Given the description of an element on the screen output the (x, y) to click on. 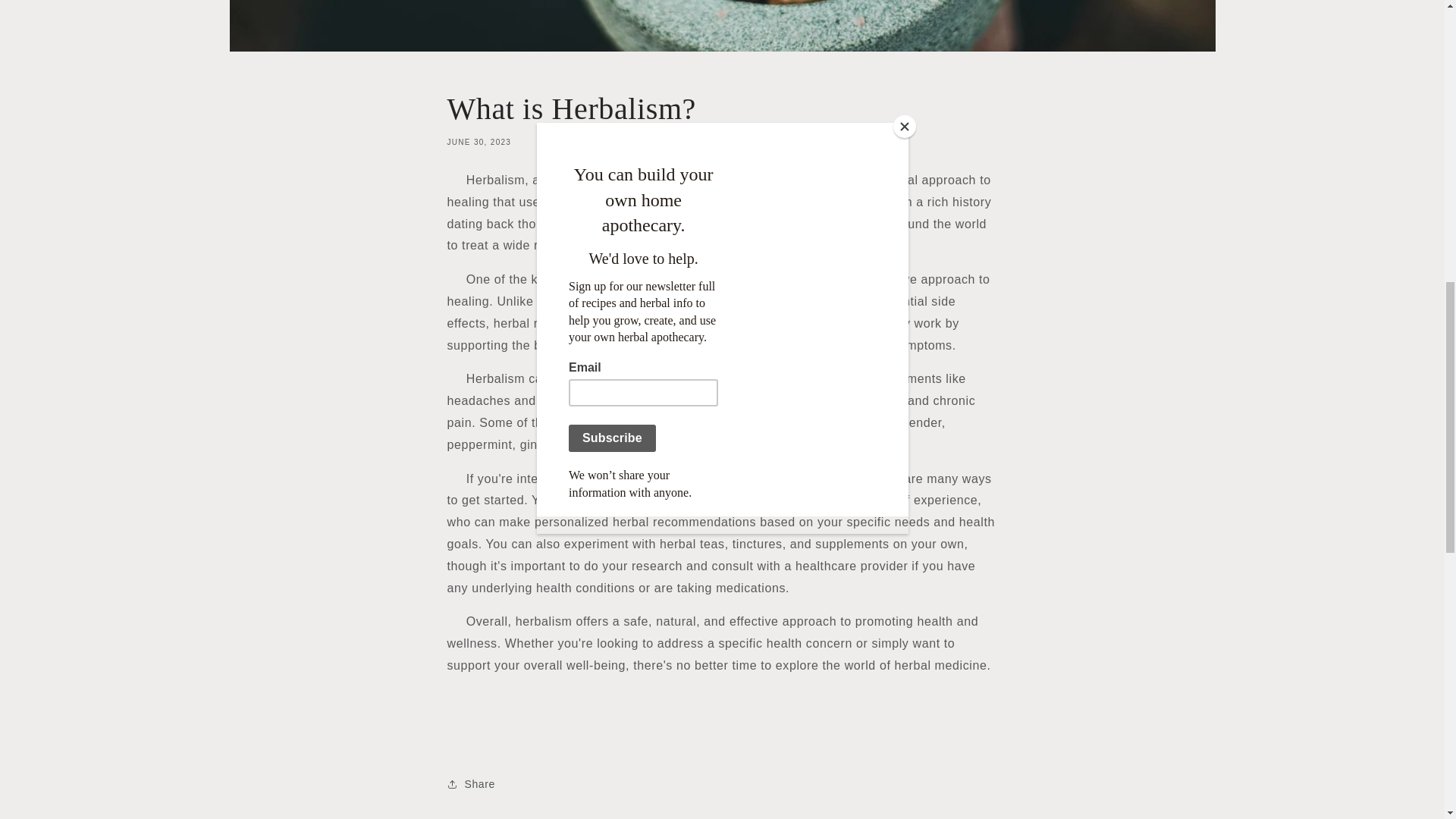
Jessica (675, 499)
Schedule an Herbal Consultation (675, 499)
